Given the description of an element on the screen output the (x, y) to click on. 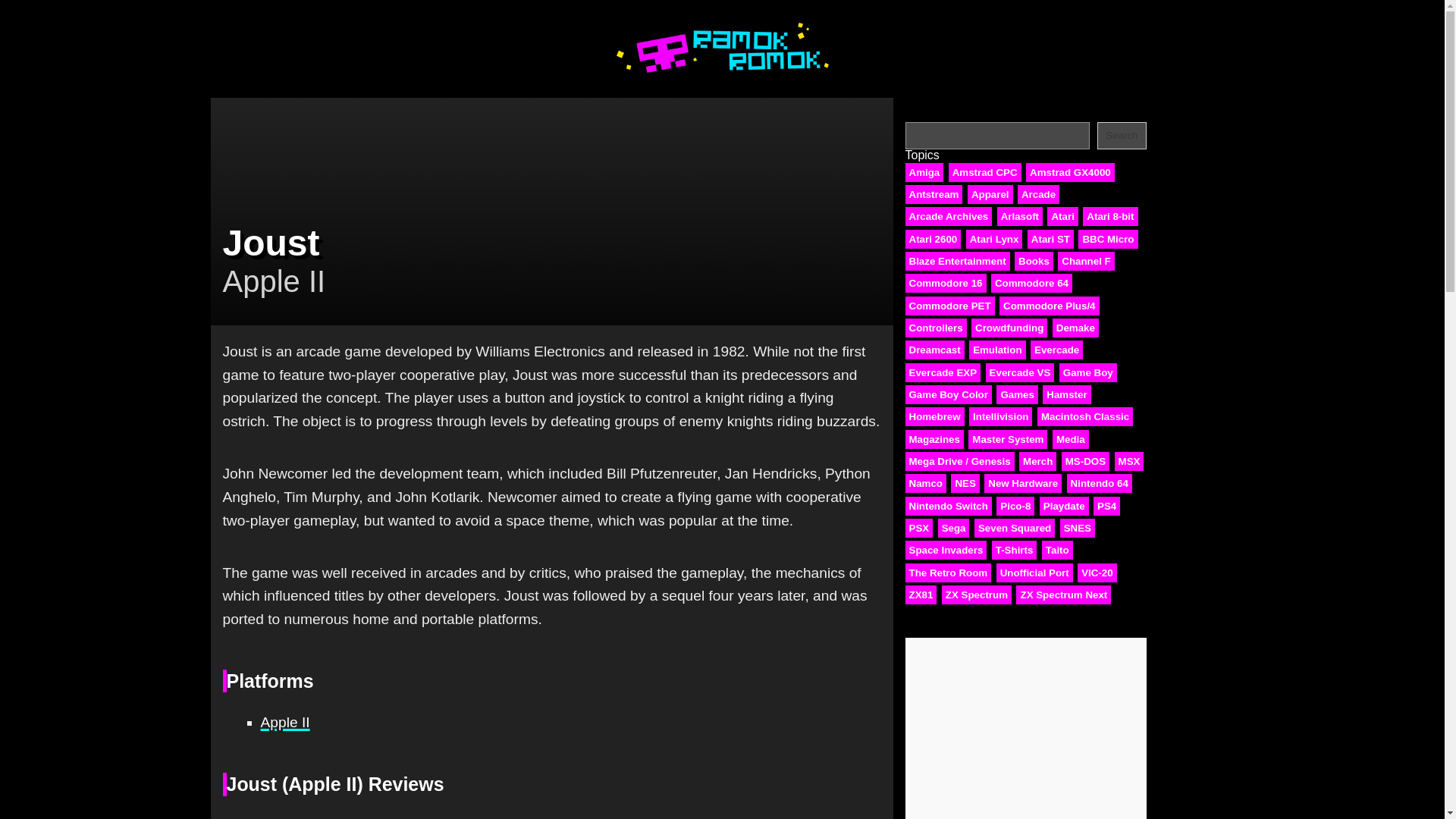
Emulation (997, 349)
Commodore 16 (946, 282)
Amstrad GX4000 (1070, 171)
Game Boy Color (948, 394)
Atari ST (1050, 239)
Evercade (1056, 349)
Arcade Archives (948, 216)
Books (1033, 261)
Atari (1061, 216)
Search (1121, 135)
